Given the description of an element on the screen output the (x, y) to click on. 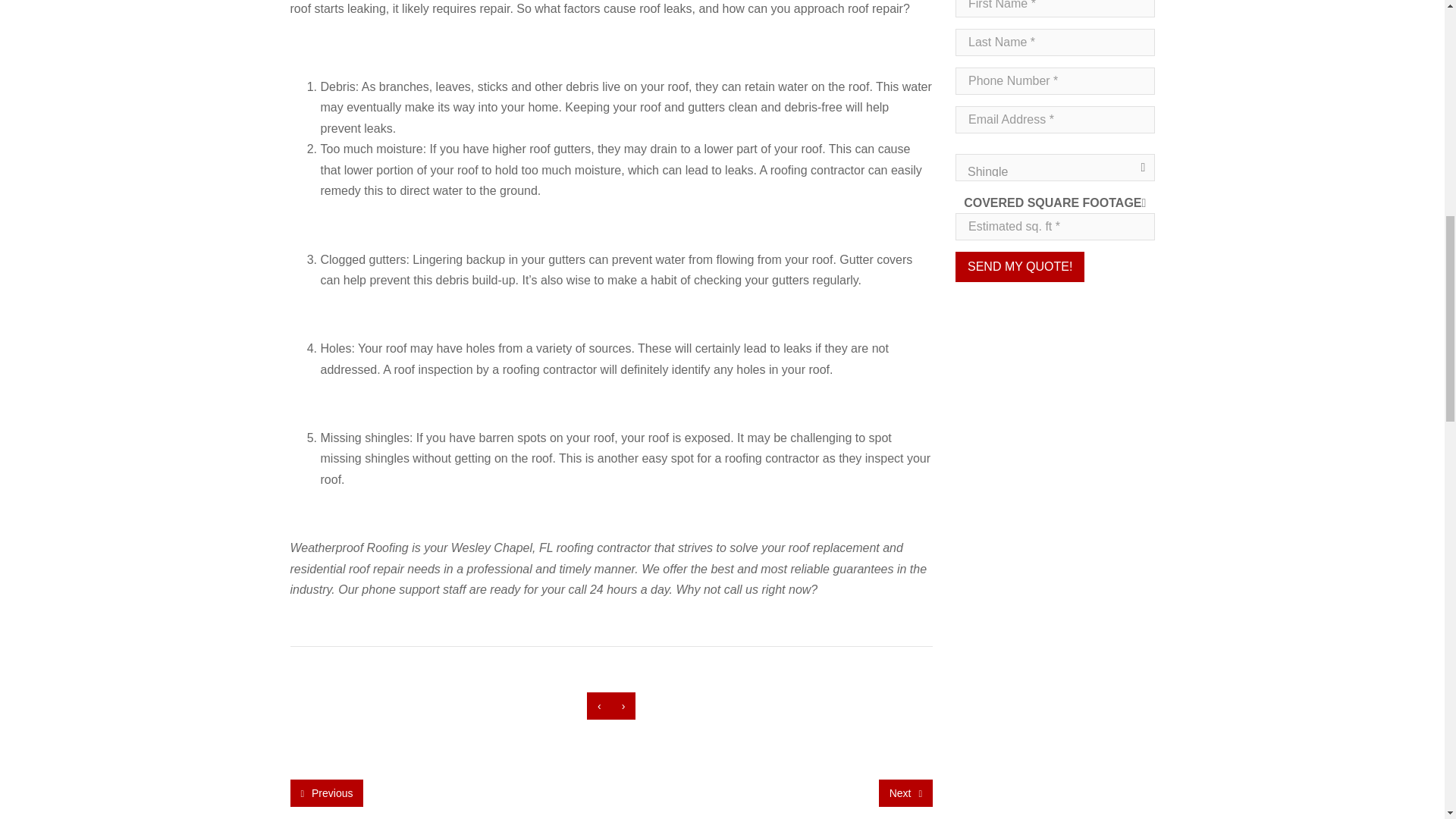
Next (906, 792)
SEND MY QUOTE! (1019, 266)
SEND MY QUOTE! (1019, 266)
Previous (325, 792)
